Given the description of an element on the screen output the (x, y) to click on. 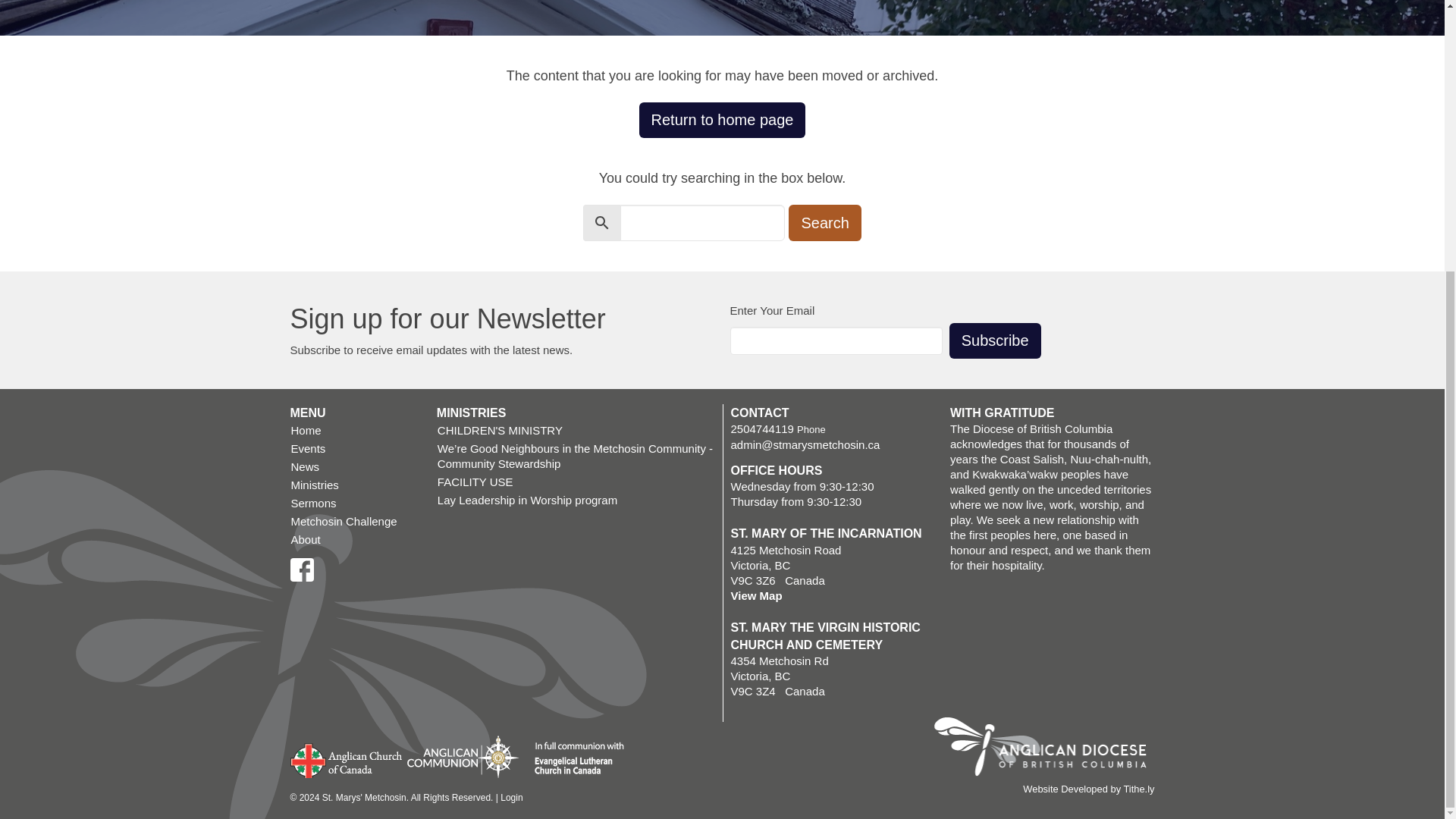
Anglican Diocese of British Columbia (1047, 748)
CHILDREN'S MINISTRY (575, 430)
Events (354, 448)
MINISTRIES (471, 412)
Return to home page (722, 120)
Evangelical Lutheran Church of Canada (573, 759)
Login (511, 797)
Subscribe (995, 340)
2504744119 (761, 428)
Anglican Church of Canada (346, 759)
